Given the description of an element on the screen output the (x, y) to click on. 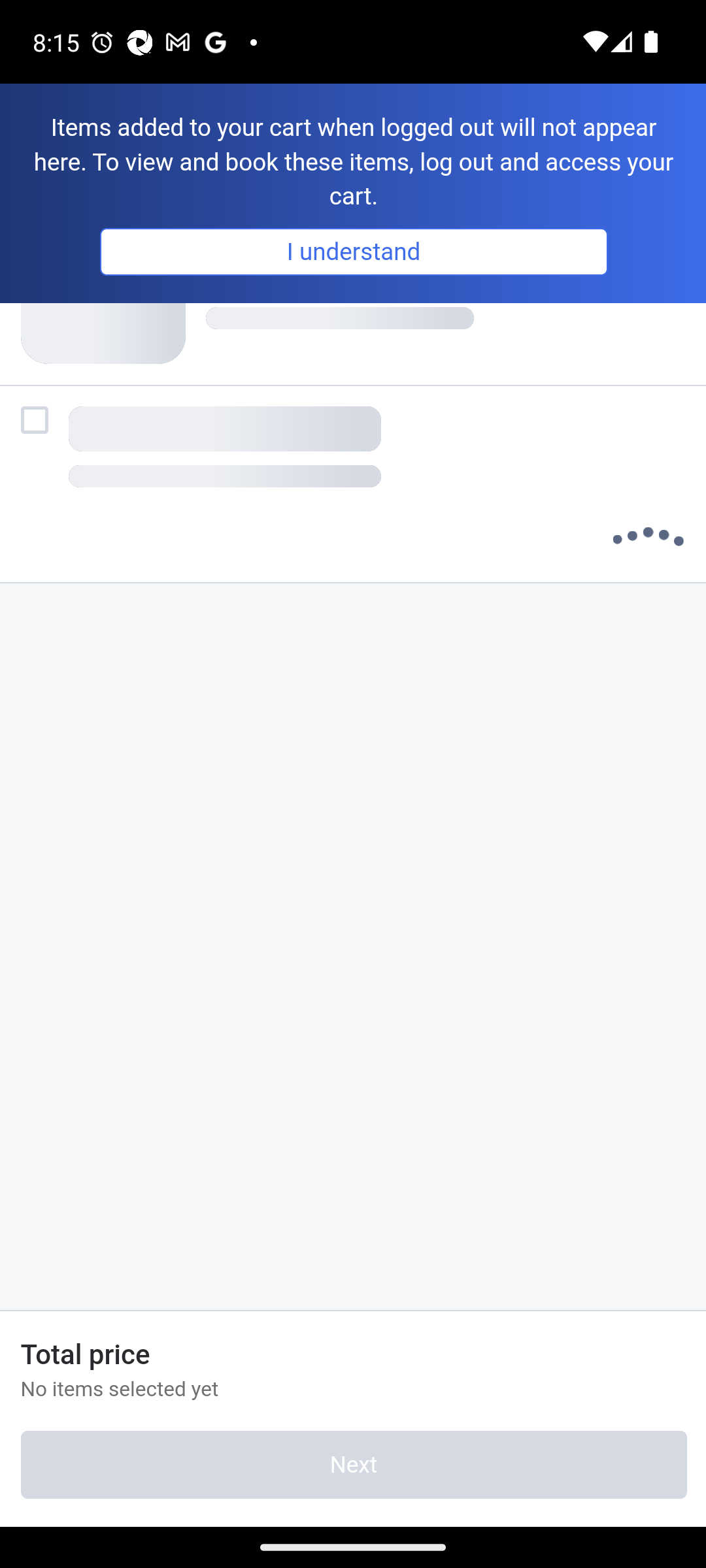
I understand (352, 250)
Next (352, 1465)
